Given the description of an element on the screen output the (x, y) to click on. 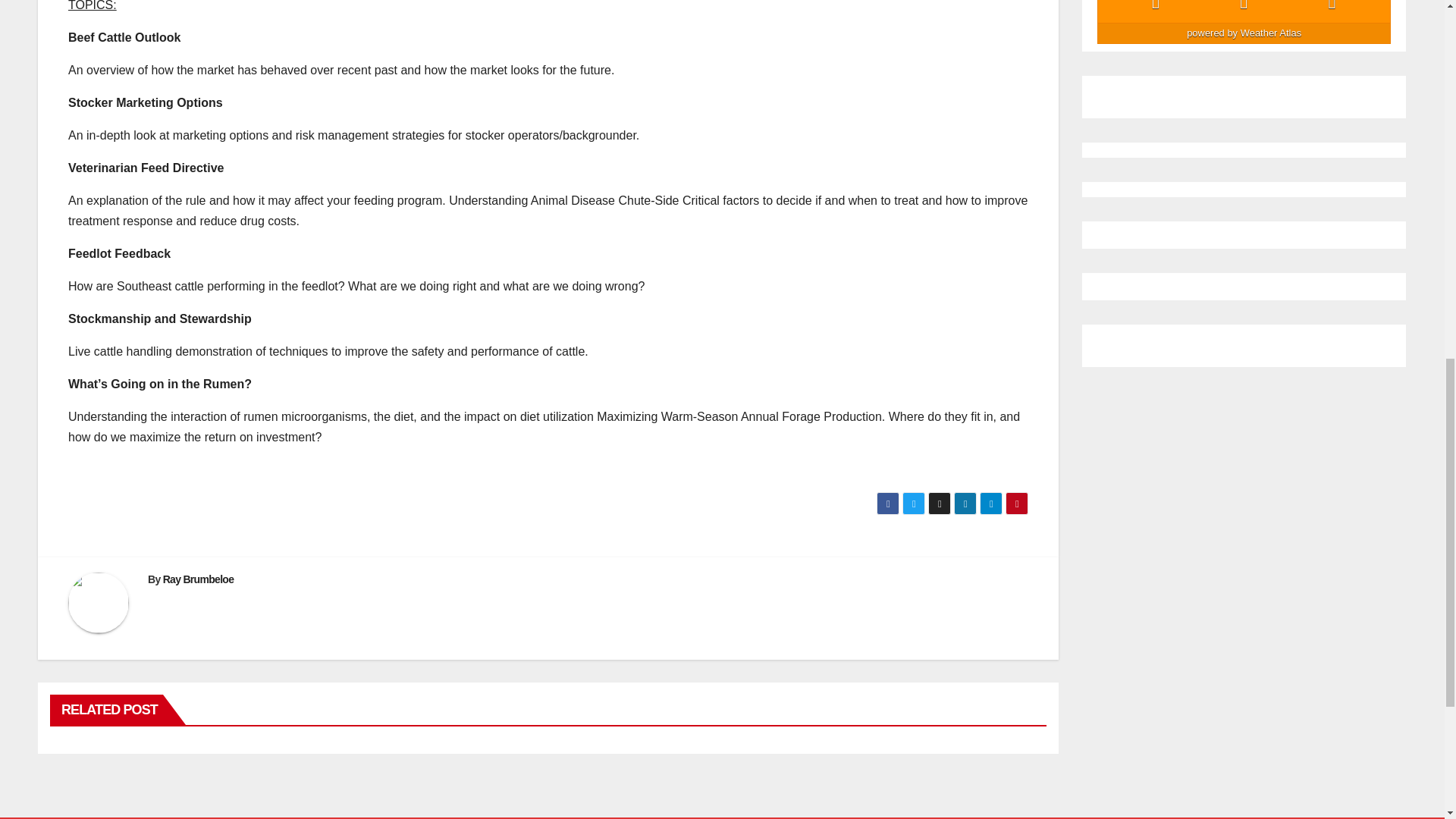
Thunderstorms (1243, 7)
